Given the description of an element on the screen output the (x, y) to click on. 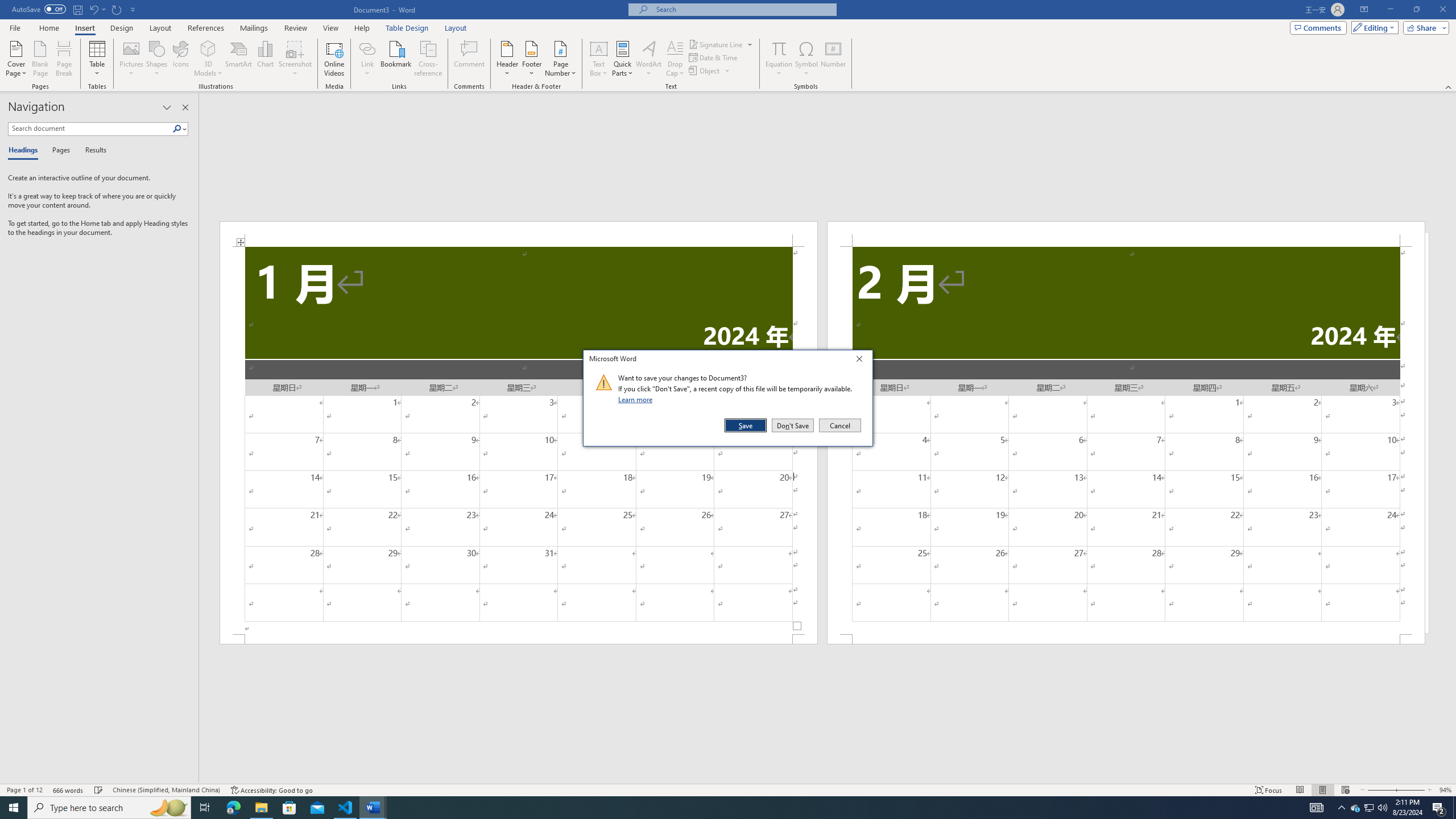
Drop Cap (674, 58)
Pictures (131, 58)
Page Number Page 1 of 12 (24, 790)
Restore Down (1416, 9)
Table (1368, 807)
Results (97, 58)
Cancel (91, 150)
Search highlights icon opens search home window (839, 425)
Zoom In (167, 807)
Close (1410, 790)
Signature Line (862, 360)
Layout (721, 44)
Home (455, 28)
